Given the description of an element on the screen output the (x, y) to click on. 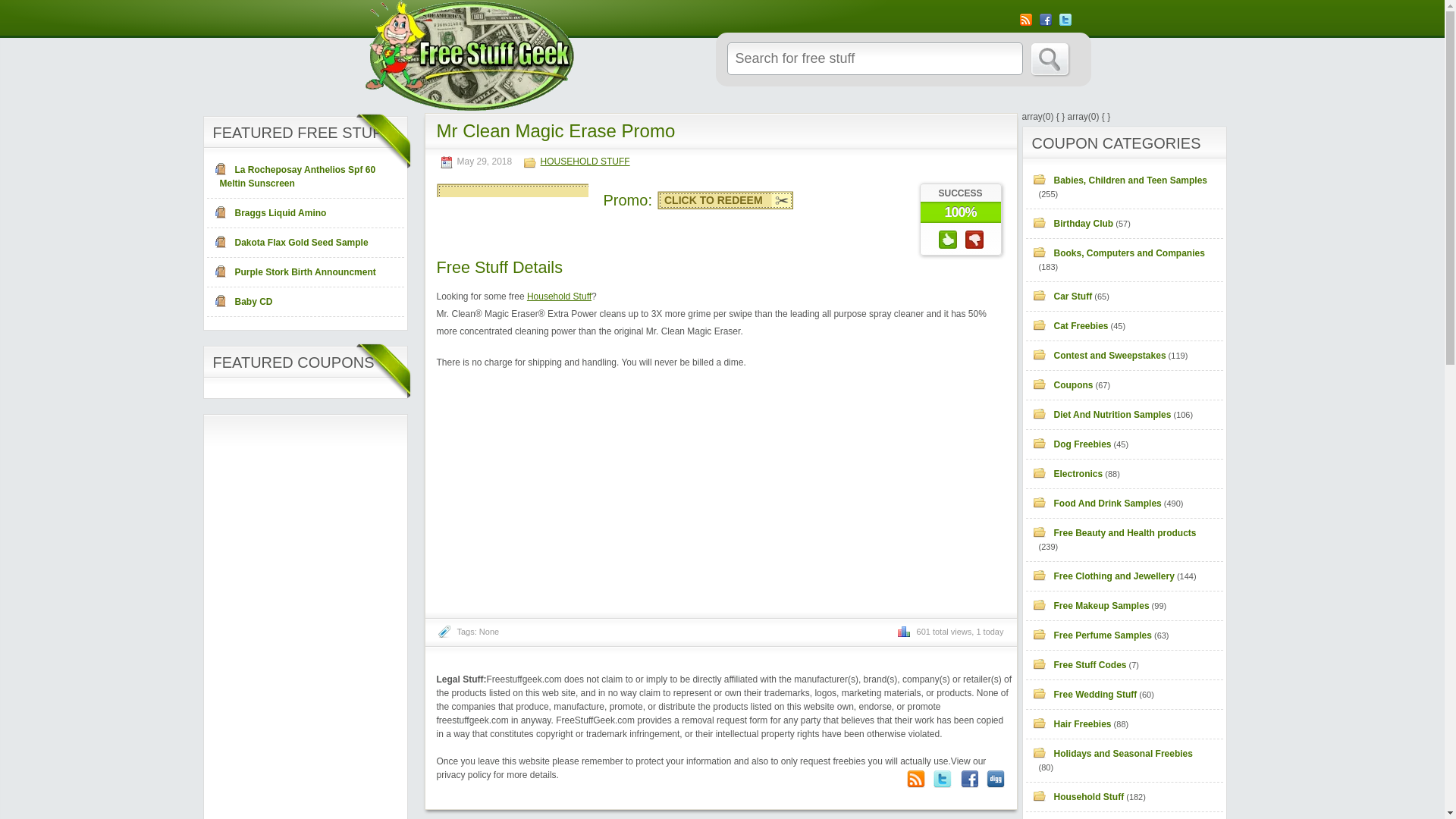
RSS (1024, 19)
Electronics (1071, 473)
Household Stuff (1081, 796)
Birthday Club (1076, 223)
CLICK TO REDEEM (725, 199)
Facebook (968, 778)
Holidays and Seasonal Freebies (1115, 753)
Search (1049, 59)
